Given the description of an element on the screen output the (x, y) to click on. 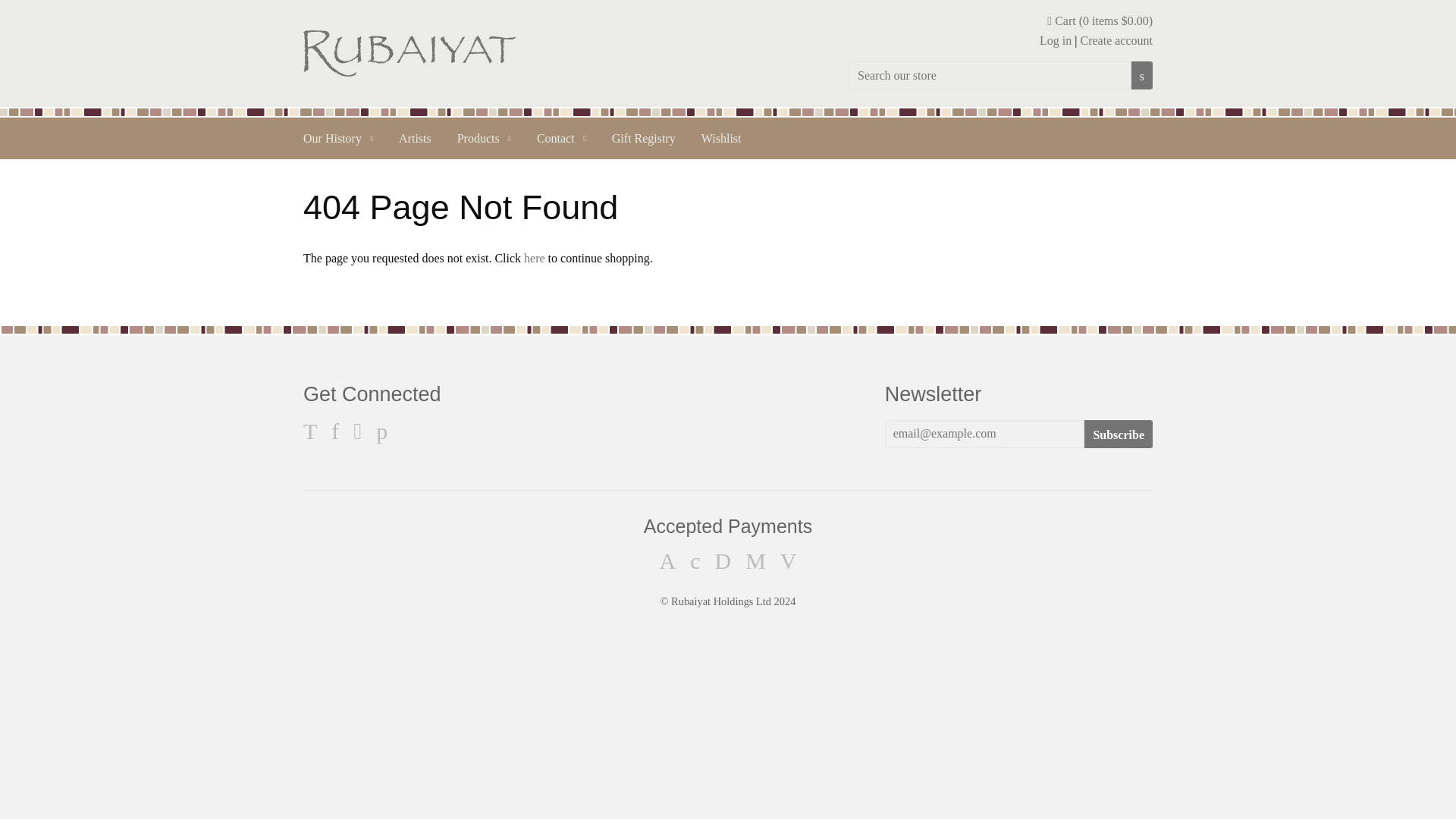
Log in (1055, 40)
Create account (1116, 40)
Subscribe (1118, 433)
Artists (414, 138)
RUBAIYAT on Twitter (309, 434)
Our History (338, 138)
